Given the description of an element on the screen output the (x, y) to click on. 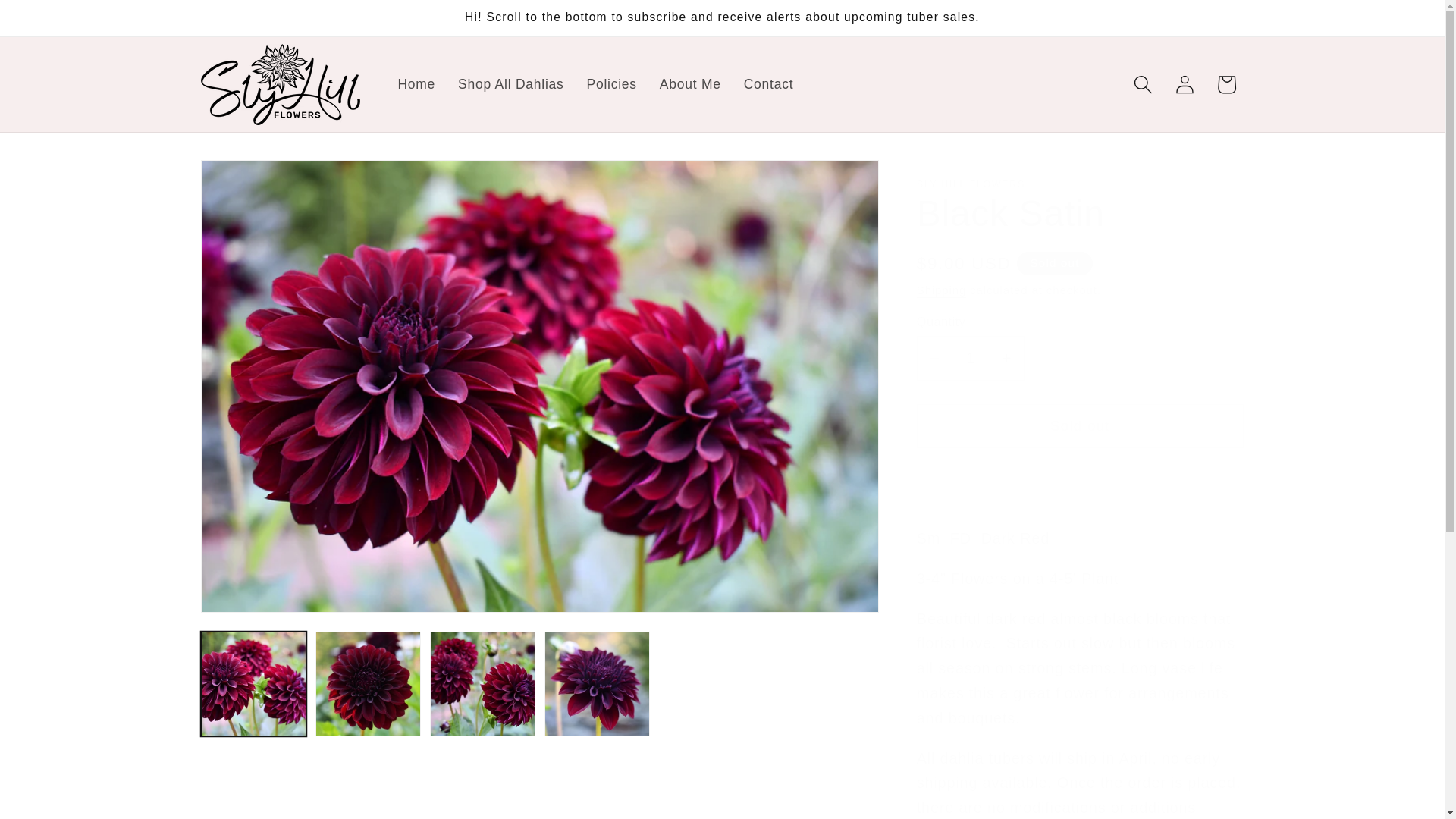
Contact (768, 84)
Home (415, 84)
About Me (689, 84)
Policies (611, 84)
Skip to content (57, 21)
Cart (1226, 84)
Log in (1184, 84)
Skip to product information (257, 180)
Sold out (1080, 425)
